Given the description of an element on the screen output the (x, y) to click on. 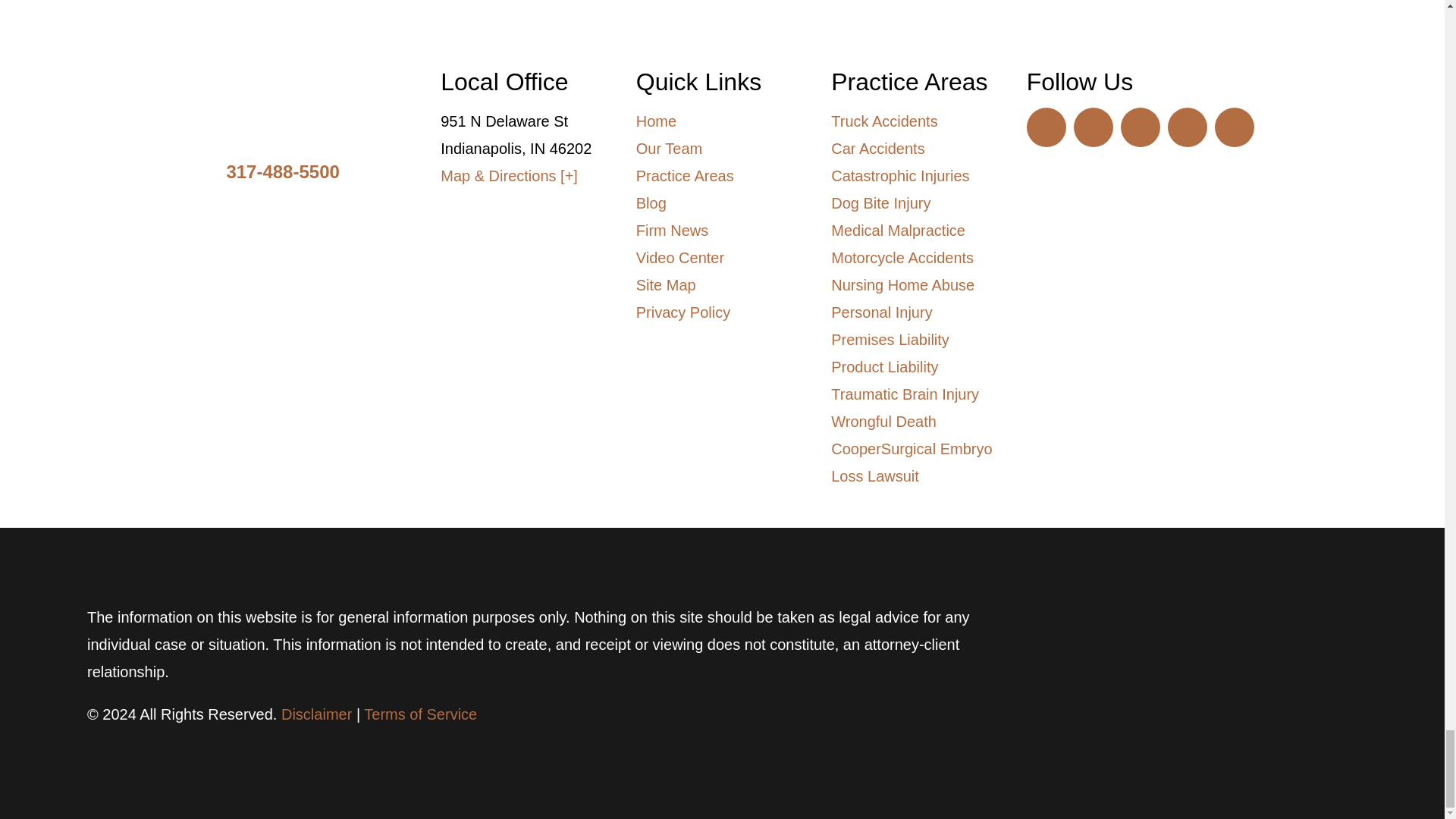
Follow Us on Yelp (1233, 127)
Follow Us on YouTube (1045, 127)
Follow Us on Facebook (1140, 127)
Follow Us on LinkedIn (1093, 127)
Call Us Today (282, 171)
Follow Us on Google Business (1187, 127)
